Given the description of an element on the screen output the (x, y) to click on. 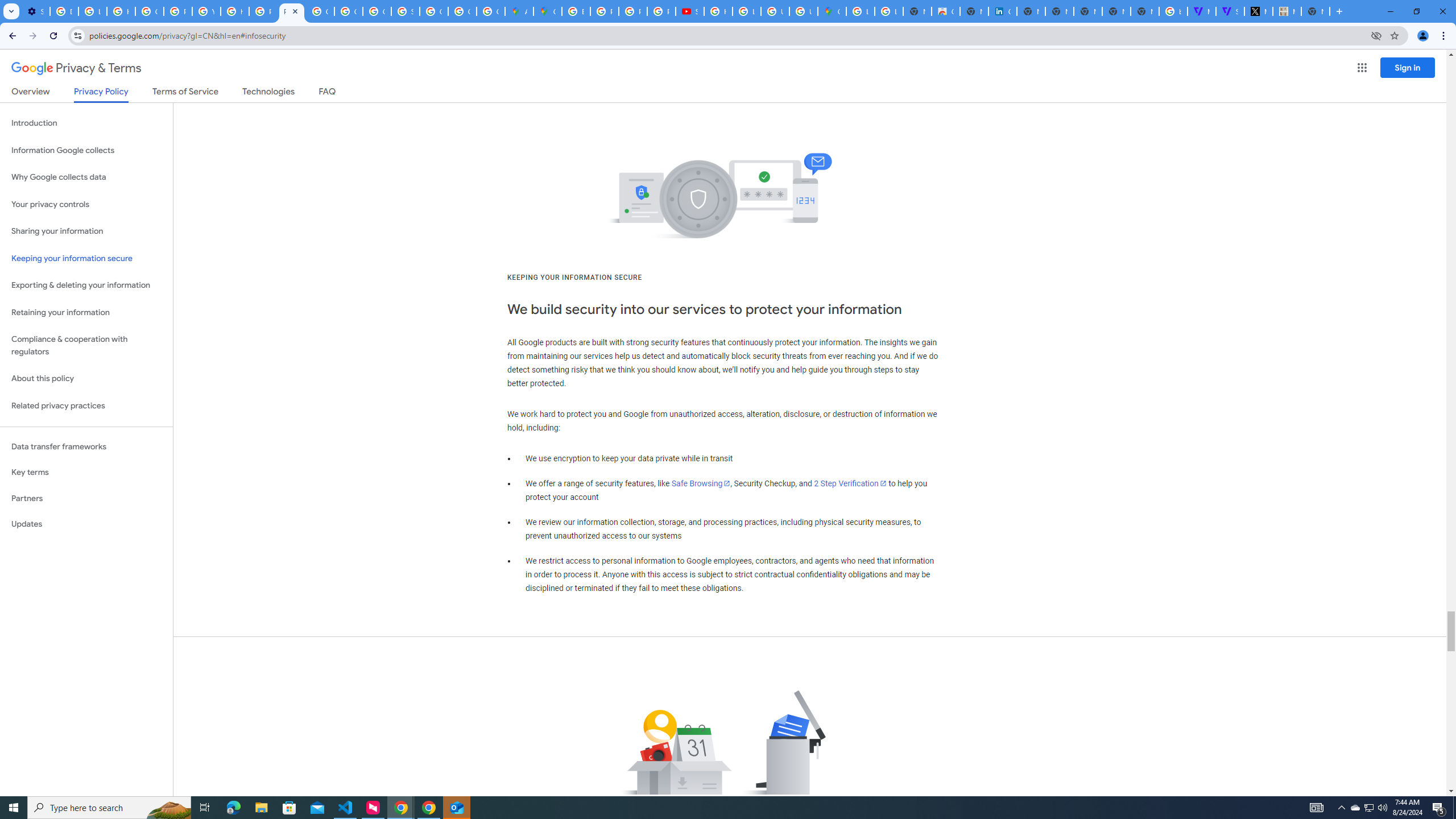
Partners (86, 497)
Delete photos & videos - Computer - Google Photos Help (63, 11)
Streaming - The Verge (1230, 11)
Information Google collects (86, 150)
FAQ (327, 93)
